Given the description of an element on the screen output the (x, y) to click on. 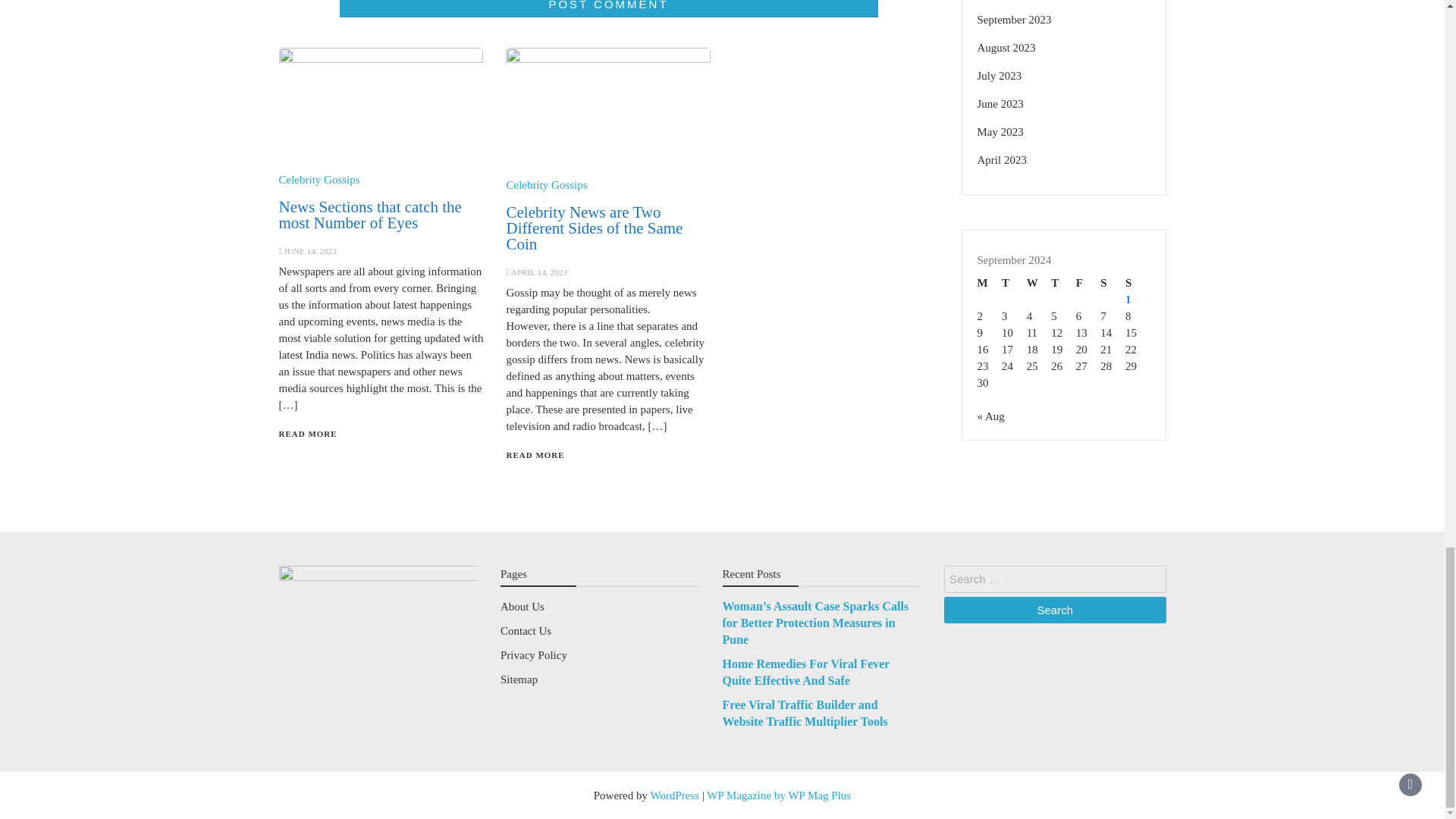
READ MORE (308, 433)
Search for: (1054, 579)
News Sections that catch the most Number of Eyes (370, 214)
JUNE 14, 2023 (309, 250)
Celebrity News are Two Different Sides of the Same Coin (593, 228)
Post Comment (608, 8)
READ MORE (534, 454)
Celebrity Gossips (545, 184)
Post Comment (608, 8)
Search (1054, 610)
